Given the description of an element on the screen output the (x, y) to click on. 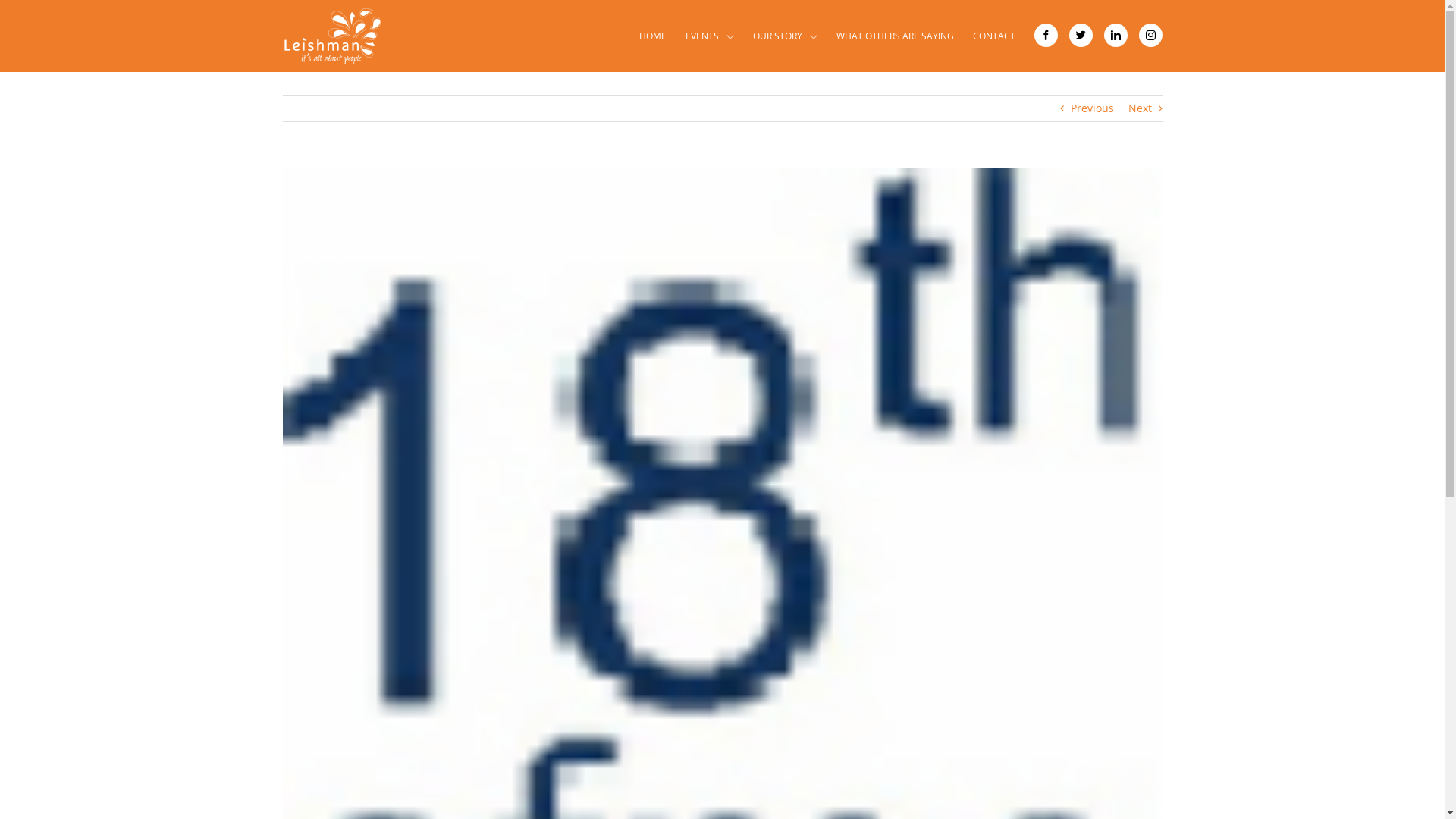
OUR STORY Element type: text (784, 36)
Twitter Element type: hover (1080, 35)
Previous Element type: text (1091, 108)
EVENTS Element type: text (709, 36)
CONTACT Element type: text (993, 36)
LinkedIn Element type: hover (1115, 35)
WHAT OTHERS ARE SAYING Element type: text (894, 36)
Next Element type: text (1139, 108)
HOME Element type: text (651, 36)
Instagram Element type: hover (1150, 35)
Facebook Element type: hover (1045, 35)
